Given the description of an element on the screen output the (x, y) to click on. 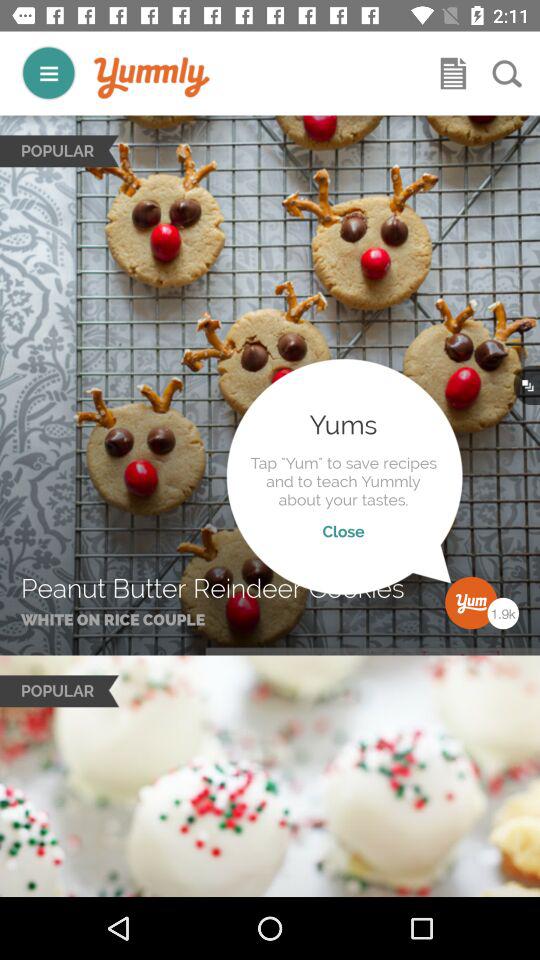
looks like baked cookies with a funny cartoon face and it 's yummy if you cook (152, 77)
